Given the description of an element on the screen output the (x, y) to click on. 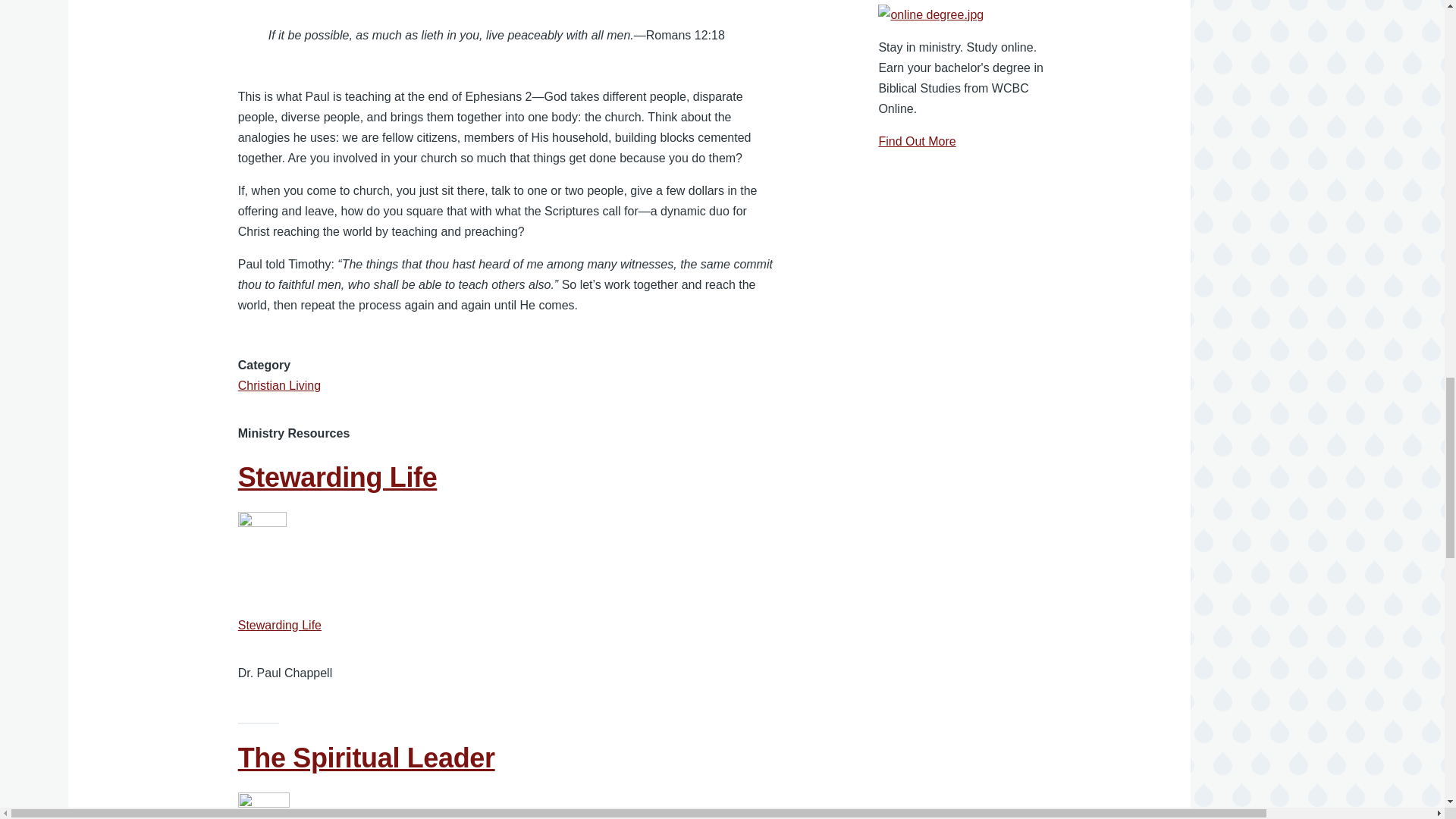
Stewarding Life (338, 477)
Christian Living (279, 385)
Stewarding Life (279, 625)
Find Out More (916, 141)
The Spiritual Leader (366, 757)
